Given the description of an element on the screen output the (x, y) to click on. 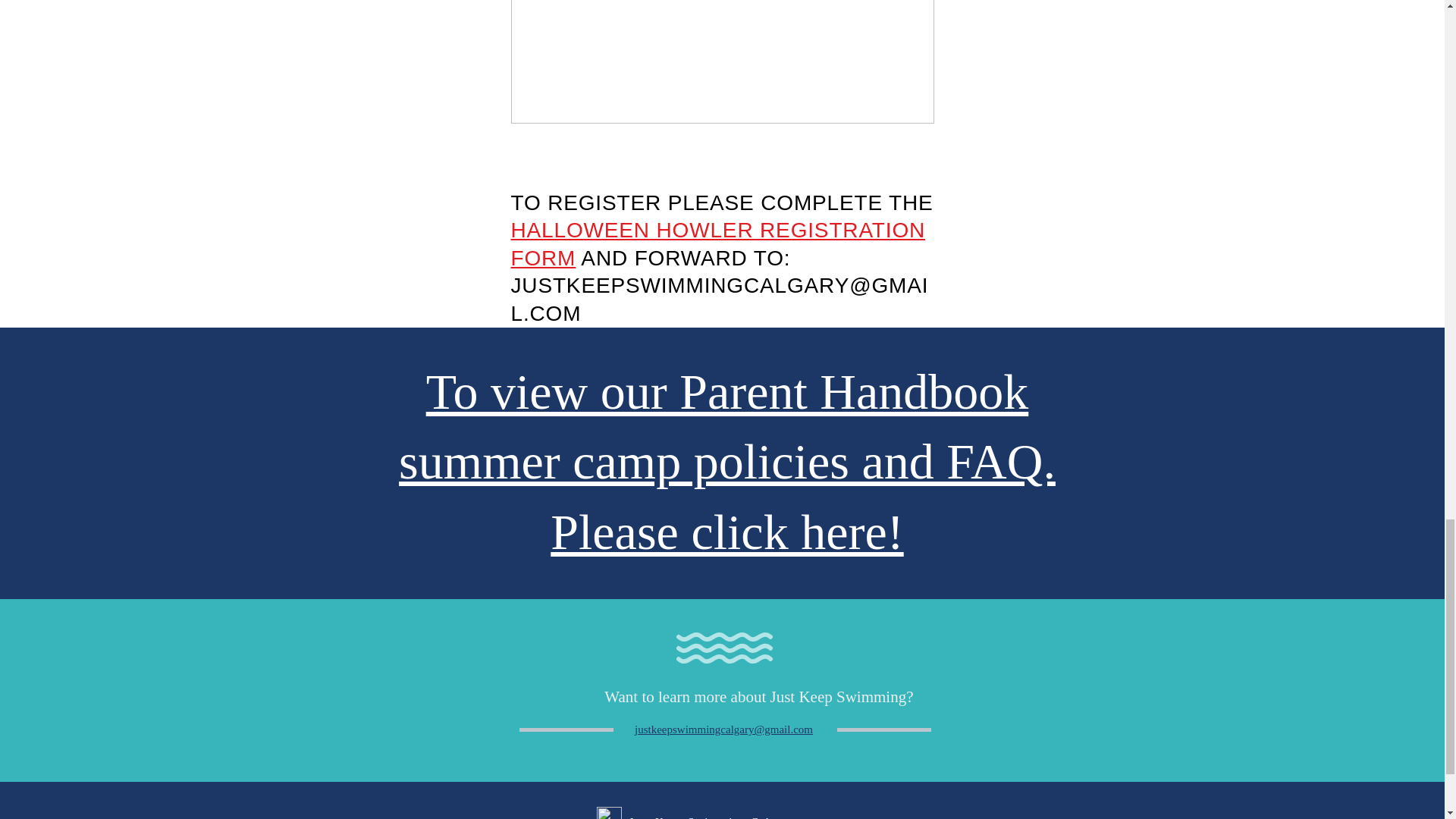
JKS Halloween party ages 13-16.png (722, 61)
HALLOWEEN HOWLER REGISTRATION FORM (718, 243)
